Given the description of an element on the screen output the (x, y) to click on. 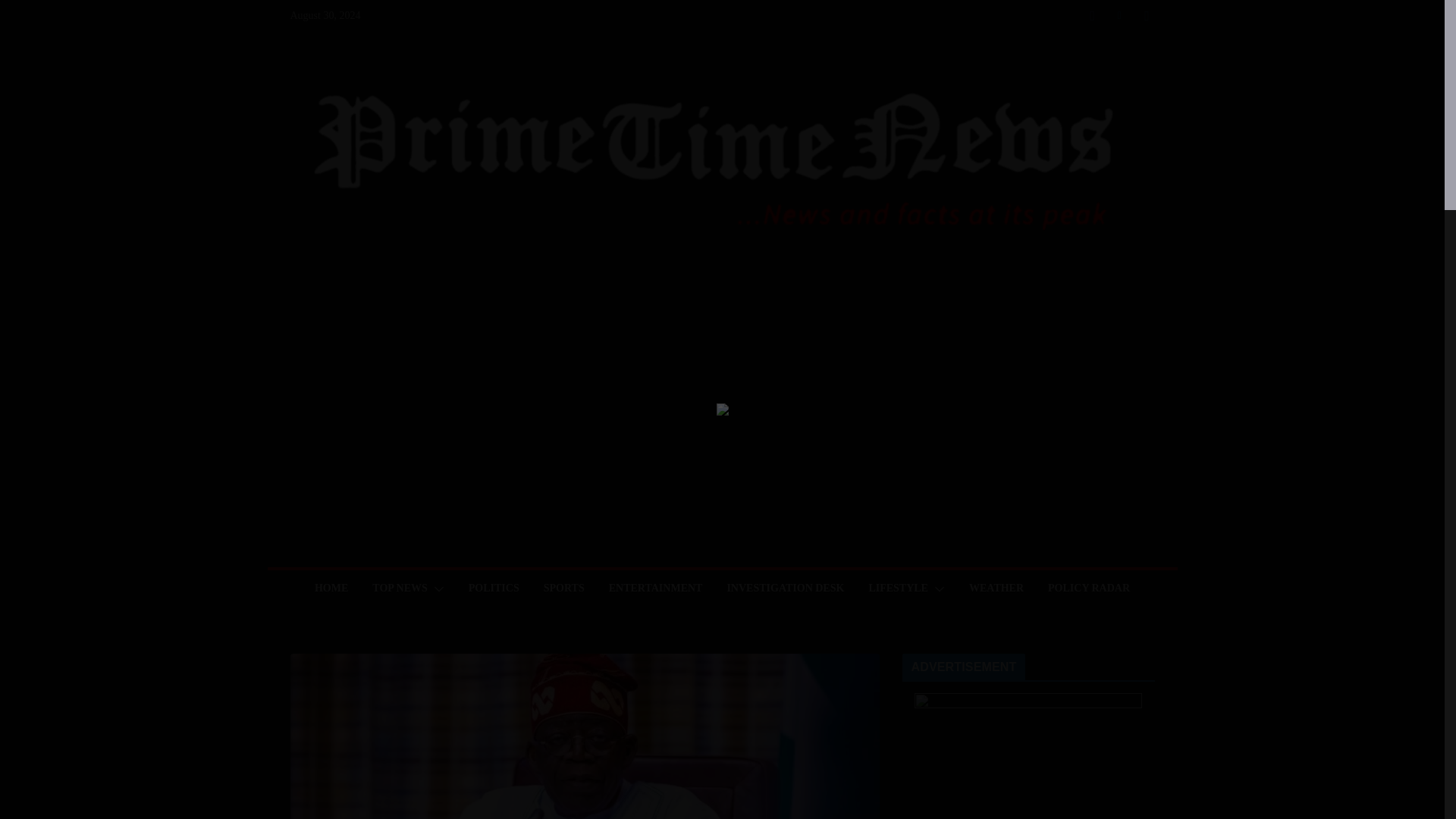
HOME (330, 589)
ENTERTAINMENT (655, 589)
INVESTIGATION DESK (785, 589)
POLICY RADAR (1088, 589)
WEATHER (996, 589)
POLITICS (493, 589)
TOP NEWS (400, 589)
SPORTS (564, 589)
LIFESTYLE (897, 589)
